Given the description of an element on the screen output the (x, y) to click on. 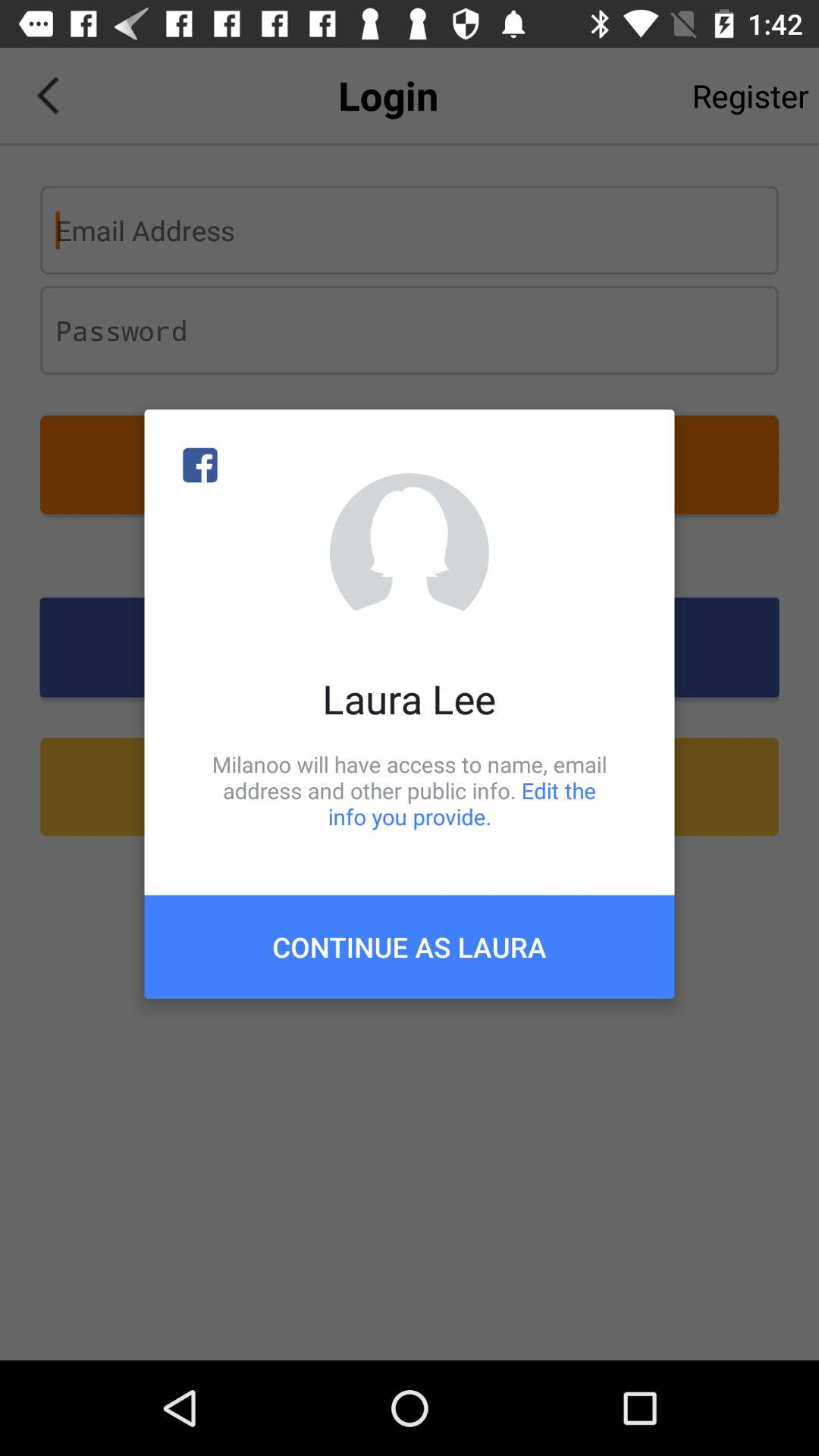
press milanoo will have item (409, 790)
